Given the description of an element on the screen output the (x, y) to click on. 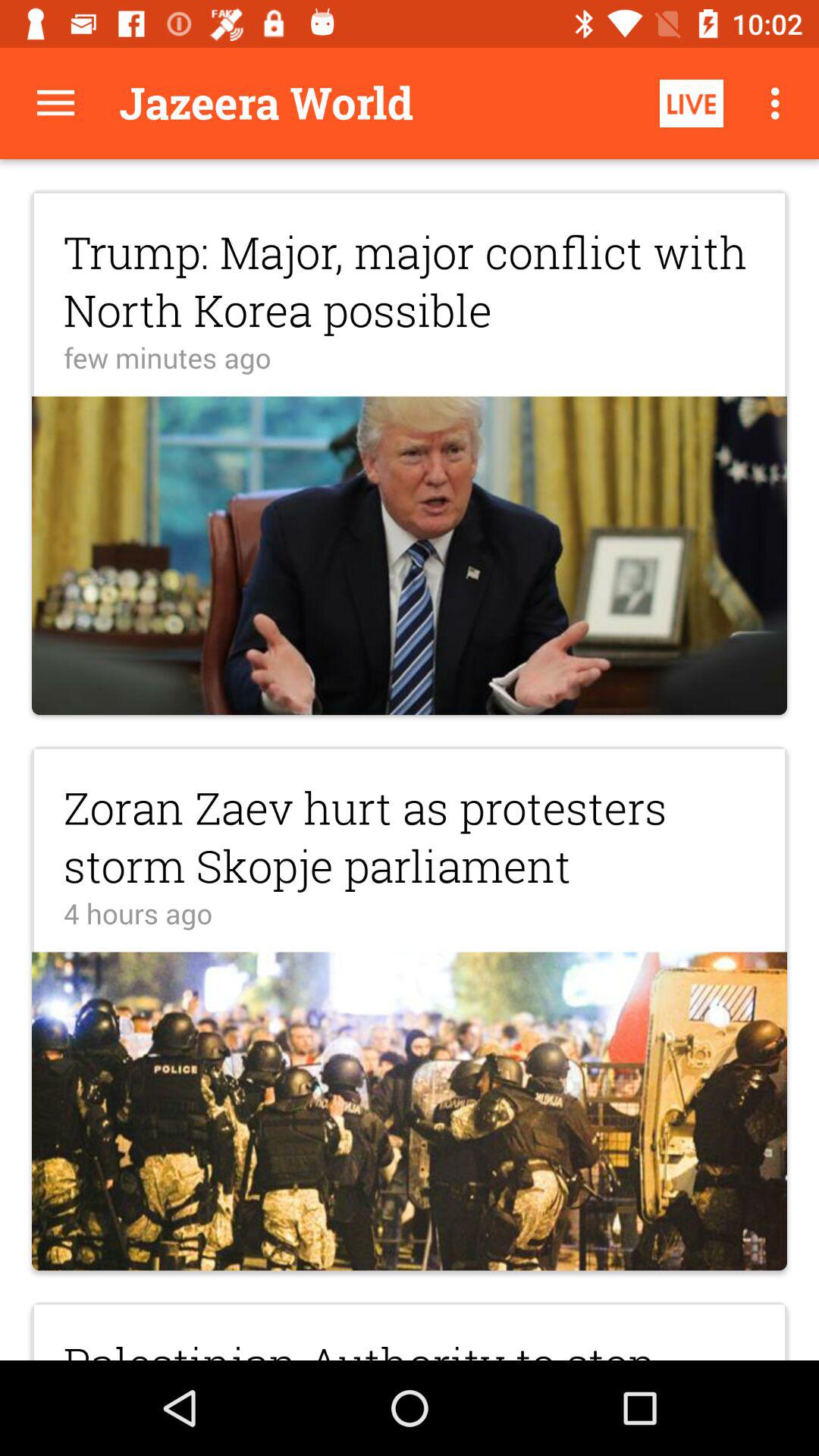
display more options (55, 103)
